Given the description of an element on the screen output the (x, y) to click on. 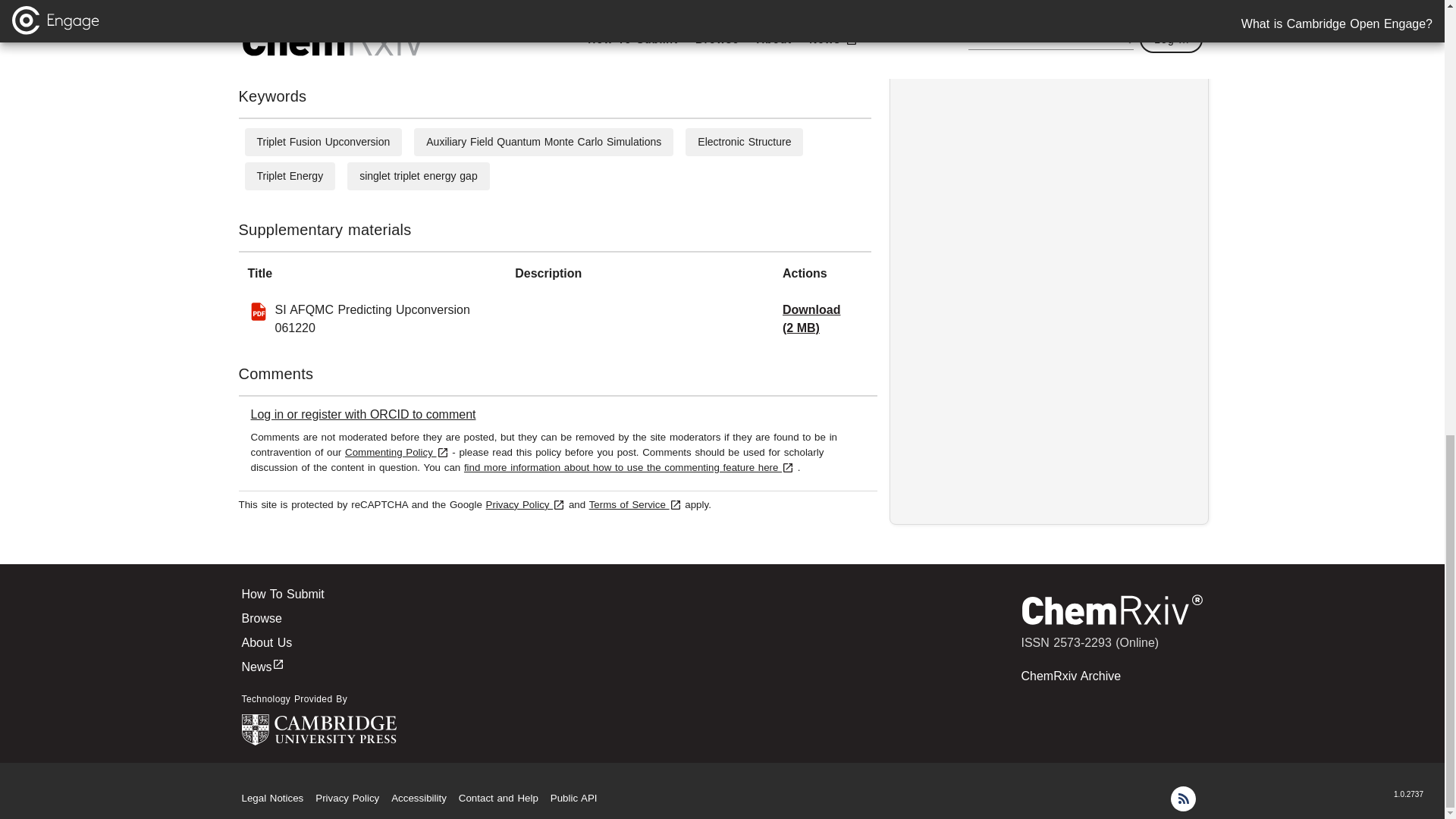
Auxiliary Field Quantum Monte Carlo Simulations (543, 141)
singlet triplet energy gap (418, 175)
Electronic Structure (743, 141)
Triplet Energy (289, 175)
Triplet Fusion Upconversion (323, 141)
